Given the description of an element on the screen output the (x, y) to click on. 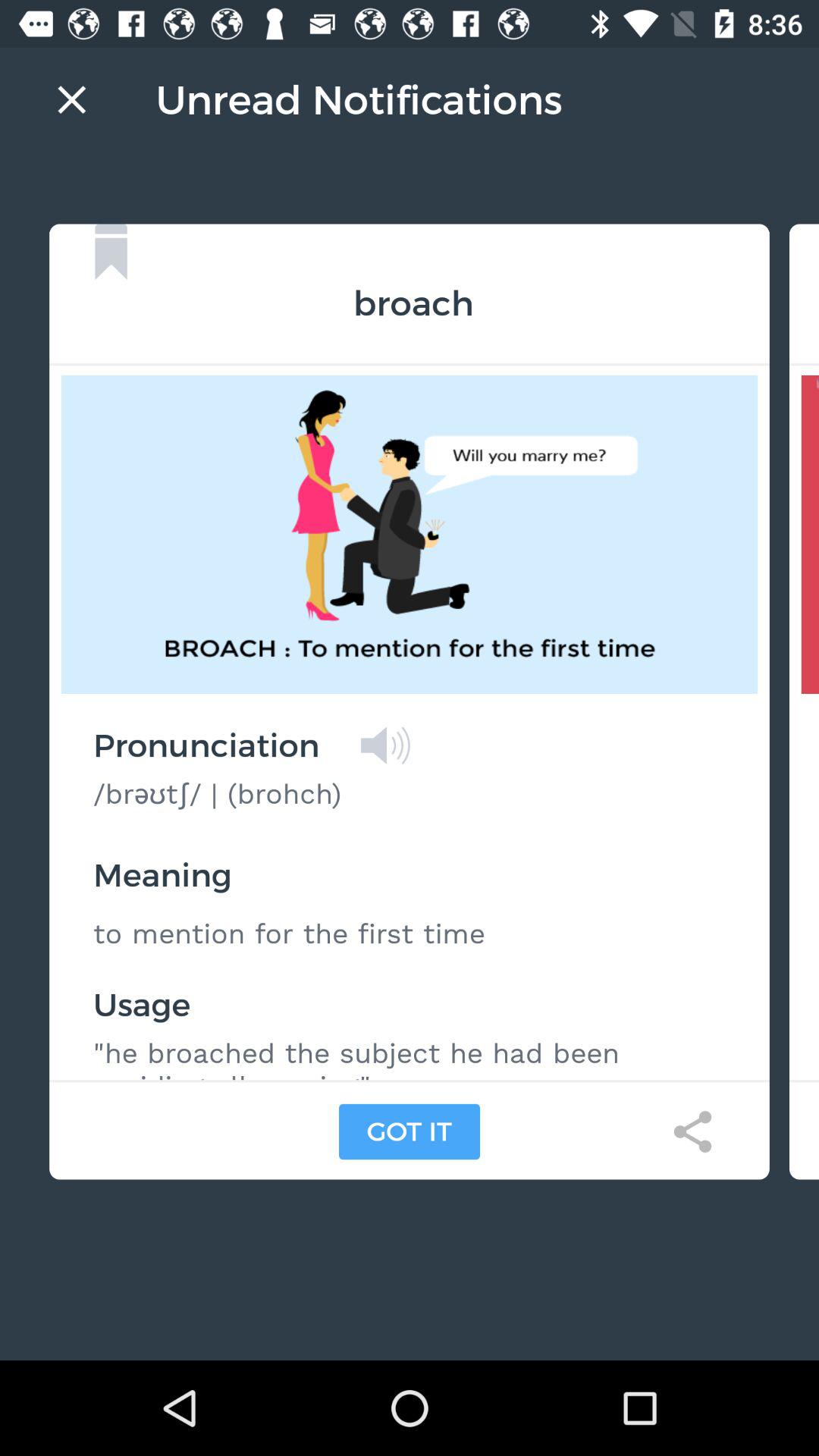
go to play (385, 745)
